Given the description of an element on the screen output the (x, y) to click on. 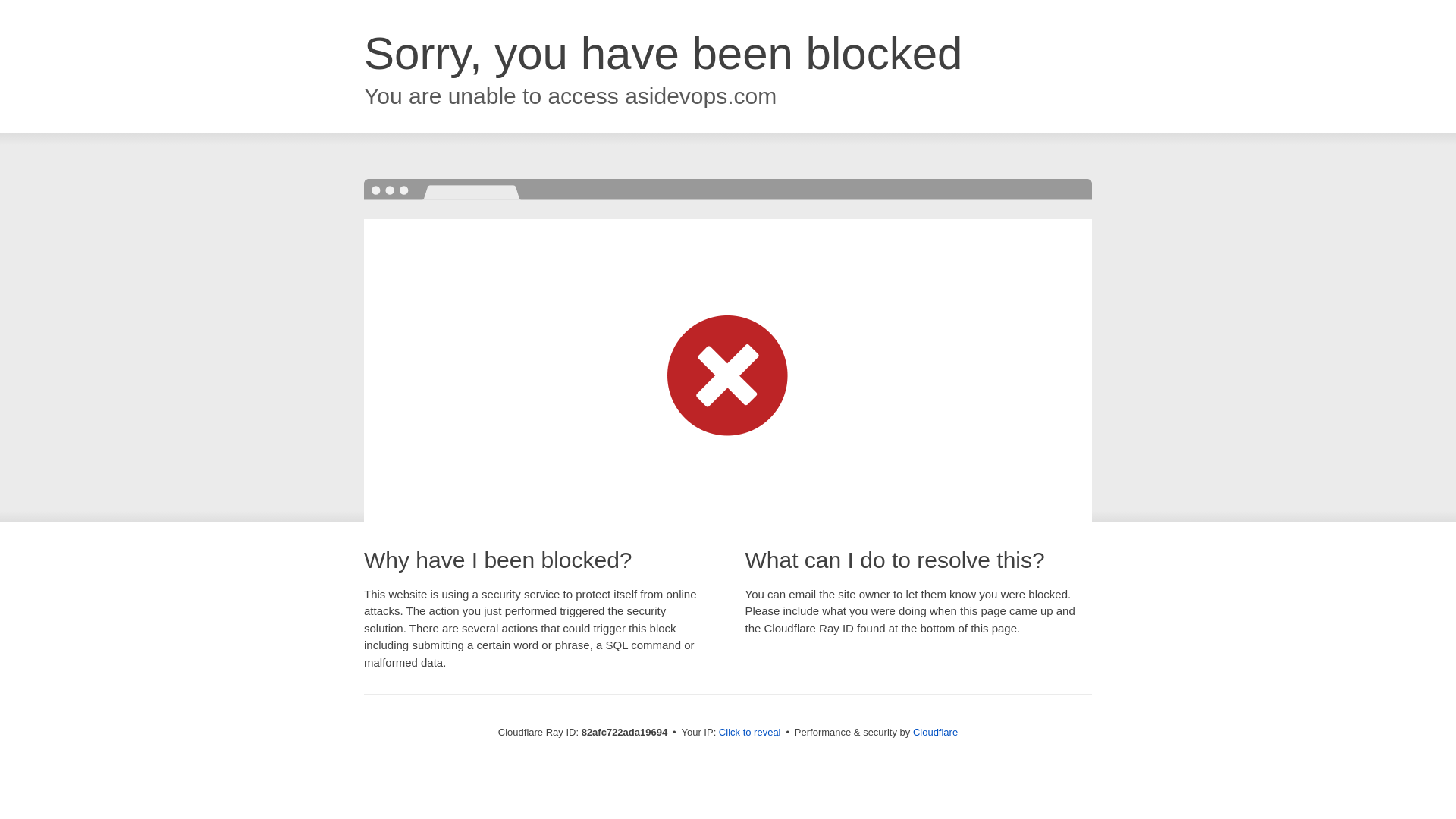
Click to reveal Element type: text (749, 732)
Cloudflare Element type: text (935, 731)
